Given the description of an element on the screen output the (x, y) to click on. 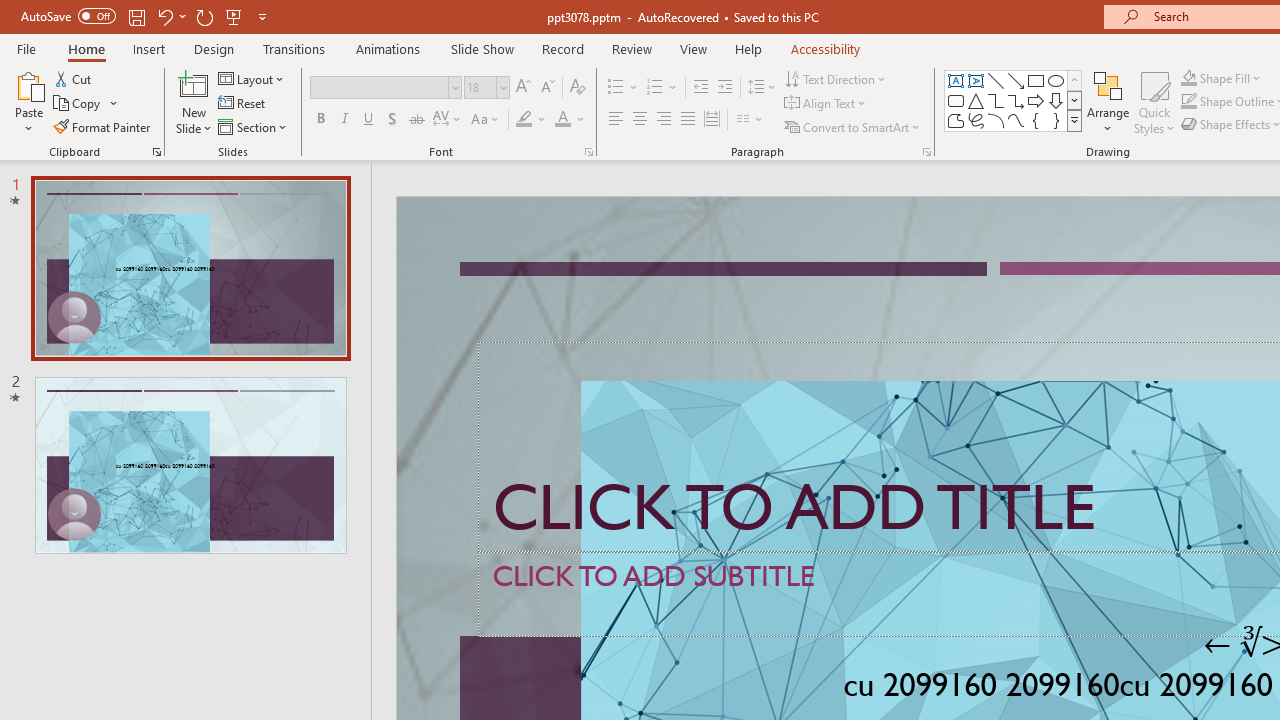
Shape Fill Dark Green, Accent 2 (1188, 78)
